Given the description of an element on the screen output the (x, y) to click on. 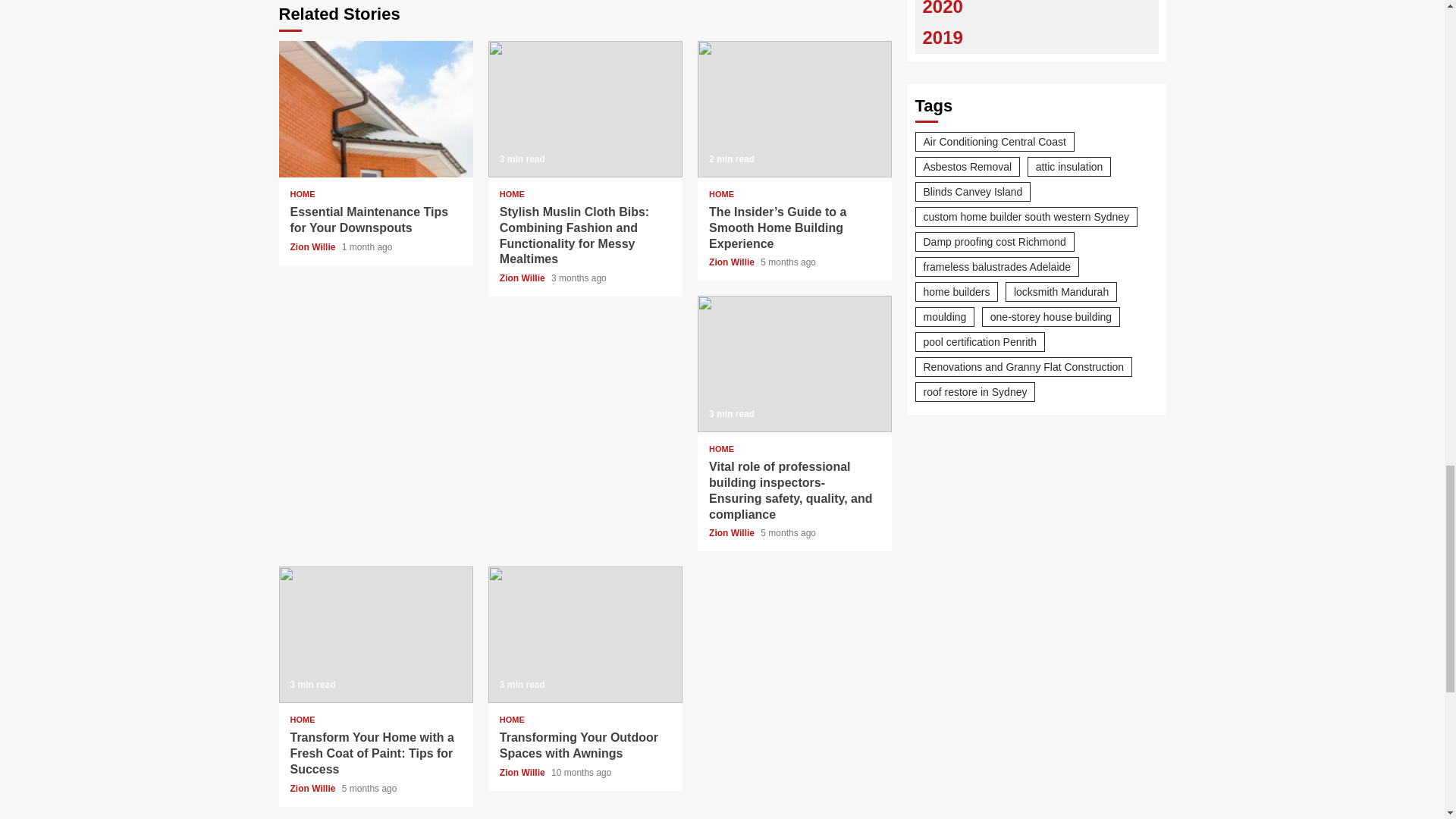
HOME (301, 194)
Zion Willie (733, 262)
HOME (721, 194)
HOME (511, 194)
HOME (301, 719)
